Given the description of an element on the screen output the (x, y) to click on. 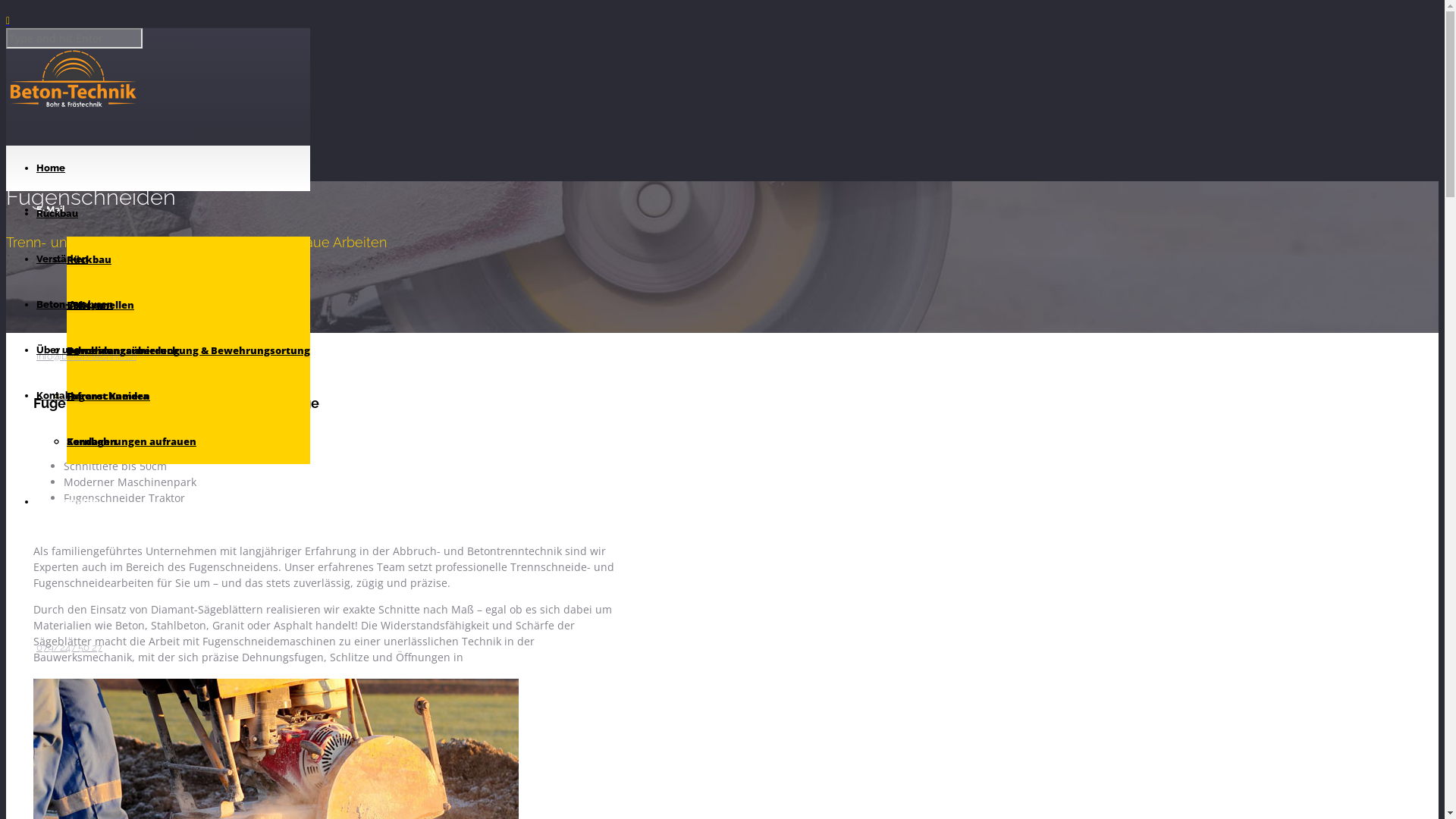
Durchstanzarmierung Element type: text (122, 350)
info@beton-technik.ch Element type: text (86, 355)
Fugenschneiden Element type: text (108, 396)
Skip to Content Element type: text (43, 18)
Schneiden Element type: text (92, 350)
Infrarot Kamera Element type: text (107, 396)
CFK Lamellen Element type: text (100, 305)
Kontakt Element type: text (55, 395)
Home Element type: text (50, 167)
079/247 50 27 Element type: text (69, 646)
Sondagen Element type: text (91, 441)
Bohren Element type: text (84, 305)
Kernbohrungen aufrauen Element type: text (131, 441)
Beton-Analysen Element type: text (74, 304)
